Given the description of an element on the screen output the (x, y) to click on. 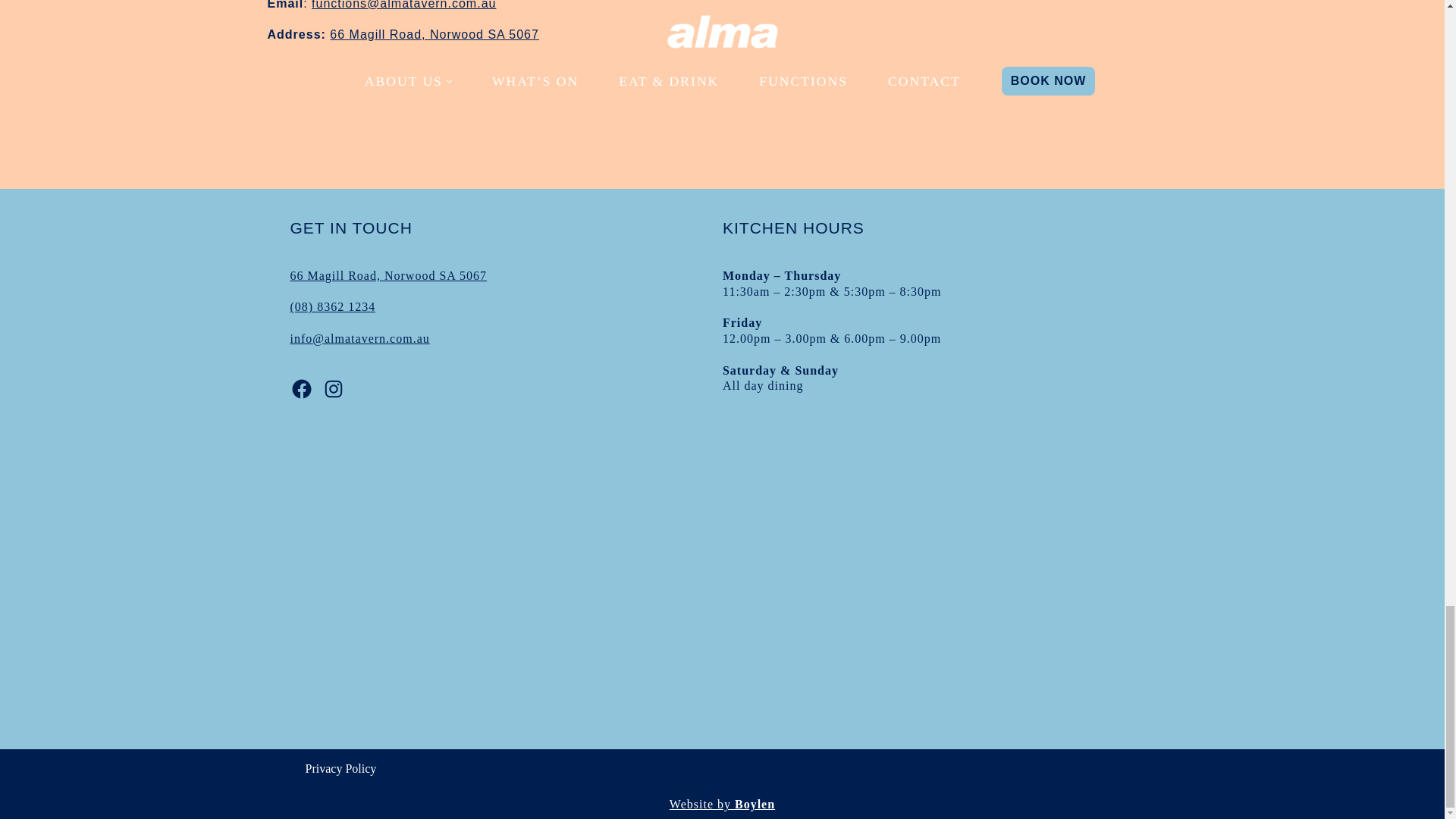
66 Magill Road, Norwood SA 5067 (434, 33)
